Given the description of an element on the screen output the (x, y) to click on. 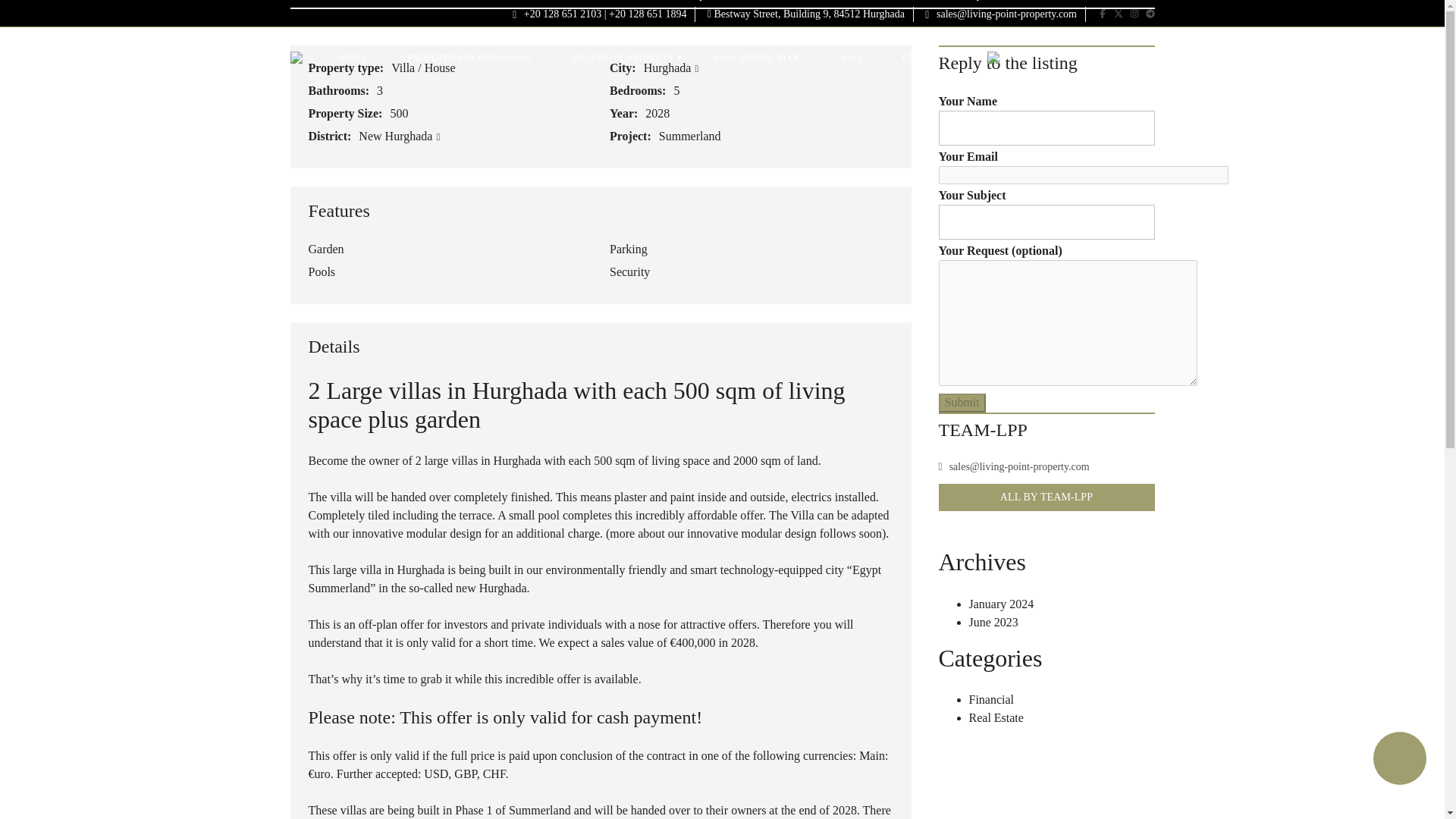
June 2023 (993, 621)
Submit (962, 402)
New Hurghada (398, 135)
Hurghada (670, 67)
CONTACT (924, 57)
ALL BY TEAM-LPP (1046, 497)
REAL ESTATE BLOG (757, 57)
Real Estate (996, 717)
Hurghada (670, 67)
EXCLUSIVE PROJECTS (622, 57)
